Given the description of an element on the screen output the (x, y) to click on. 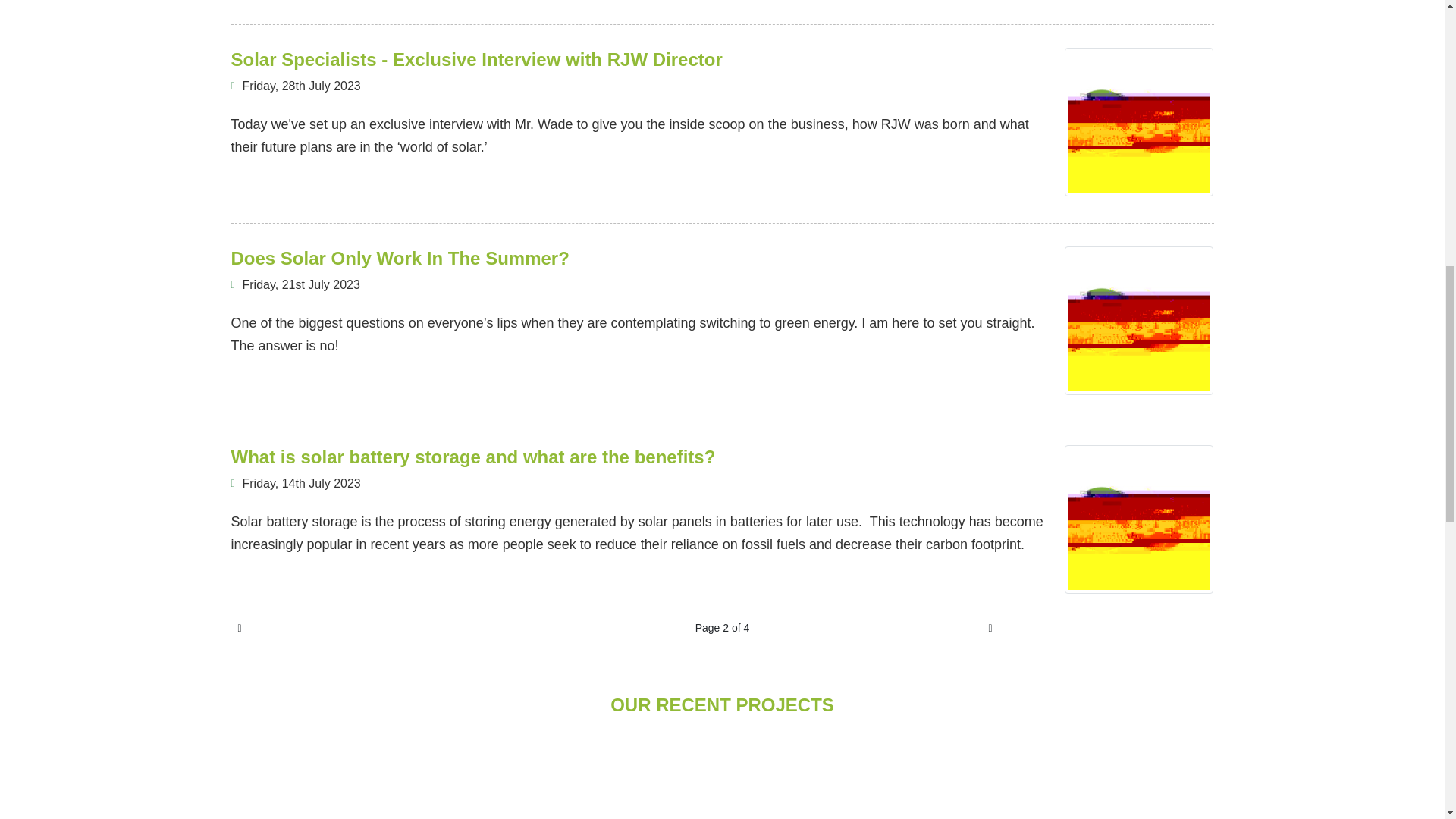
Read More (264, 188)
Read More (264, 585)
Read More (264, 387)
Solar Specialists - Exclusive Interview with RJW Director (1138, 120)
Solar Specialists - Exclusive Interview with RJW Director (476, 59)
Does Solar Only Work In The Summer? (399, 258)
Does Solar Only Work In The Summer? (1138, 319)
What is solar battery storage and what are the benefits? (472, 456)
Does Solar Only Work In The Summer? (399, 258)
What is solar battery storage and what are the benefits? (1138, 518)
What is solar battery storage and what are the benefits? (472, 456)
Solar Specialists - Exclusive Interview with RJW Director (476, 59)
